Given the description of an element on the screen output the (x, y) to click on. 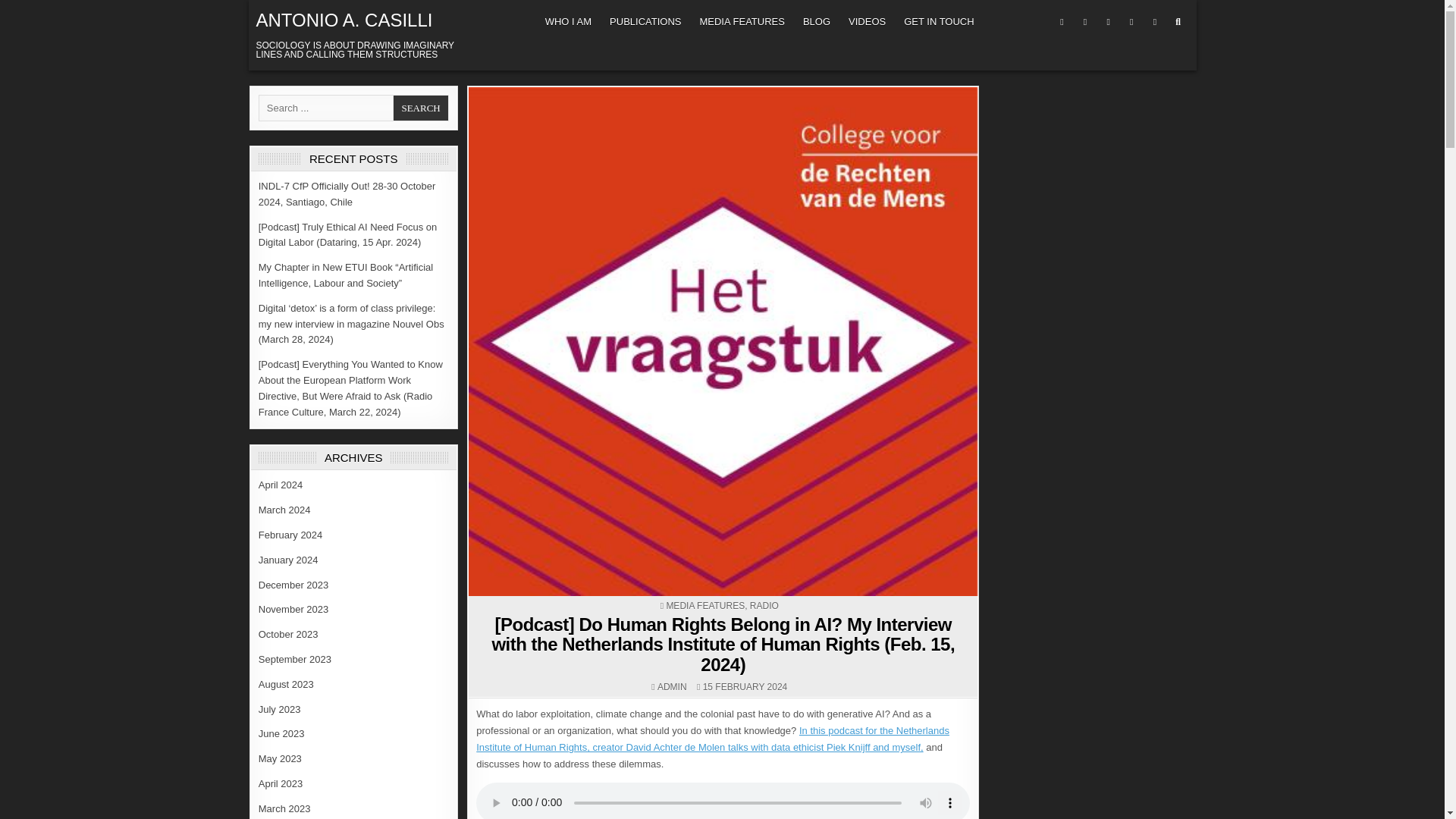
May 2023 (280, 758)
WHO I AM (567, 21)
GET IN TOUCH (938, 21)
March 2023 (285, 808)
BLOG (816, 21)
February 2024 (291, 534)
October 2023 (288, 633)
August 2023 (286, 684)
April 2023 (280, 783)
